Given the description of an element on the screen output the (x, y) to click on. 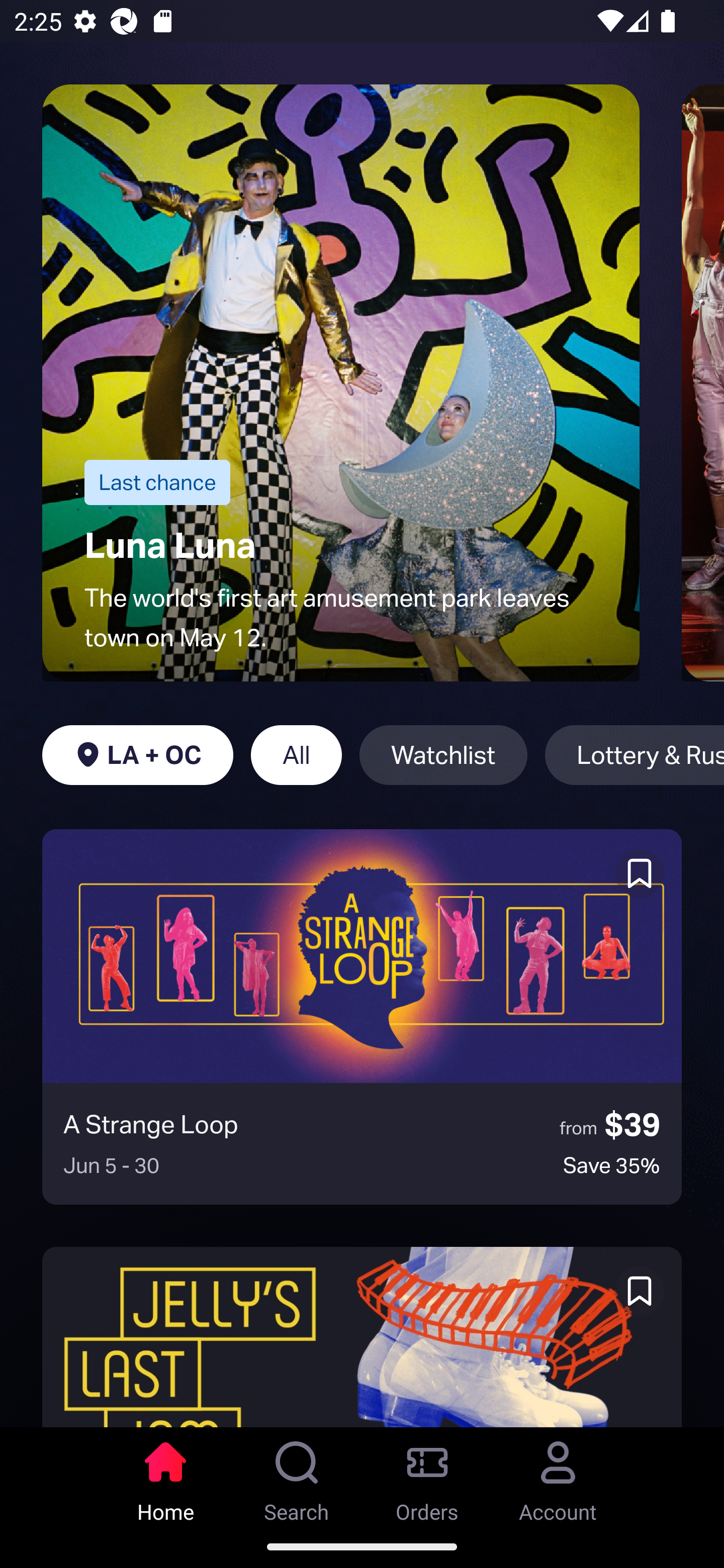
LA + OC (137, 754)
All (296, 754)
Watchlist (443, 754)
Lottery & Rush (634, 754)
A Strange Loop from $39 Jun 5 - 30 Save 35% (361, 1016)
Search (296, 1475)
Orders (427, 1475)
Account (558, 1475)
